Given the description of an element on the screen output the (x, y) to click on. 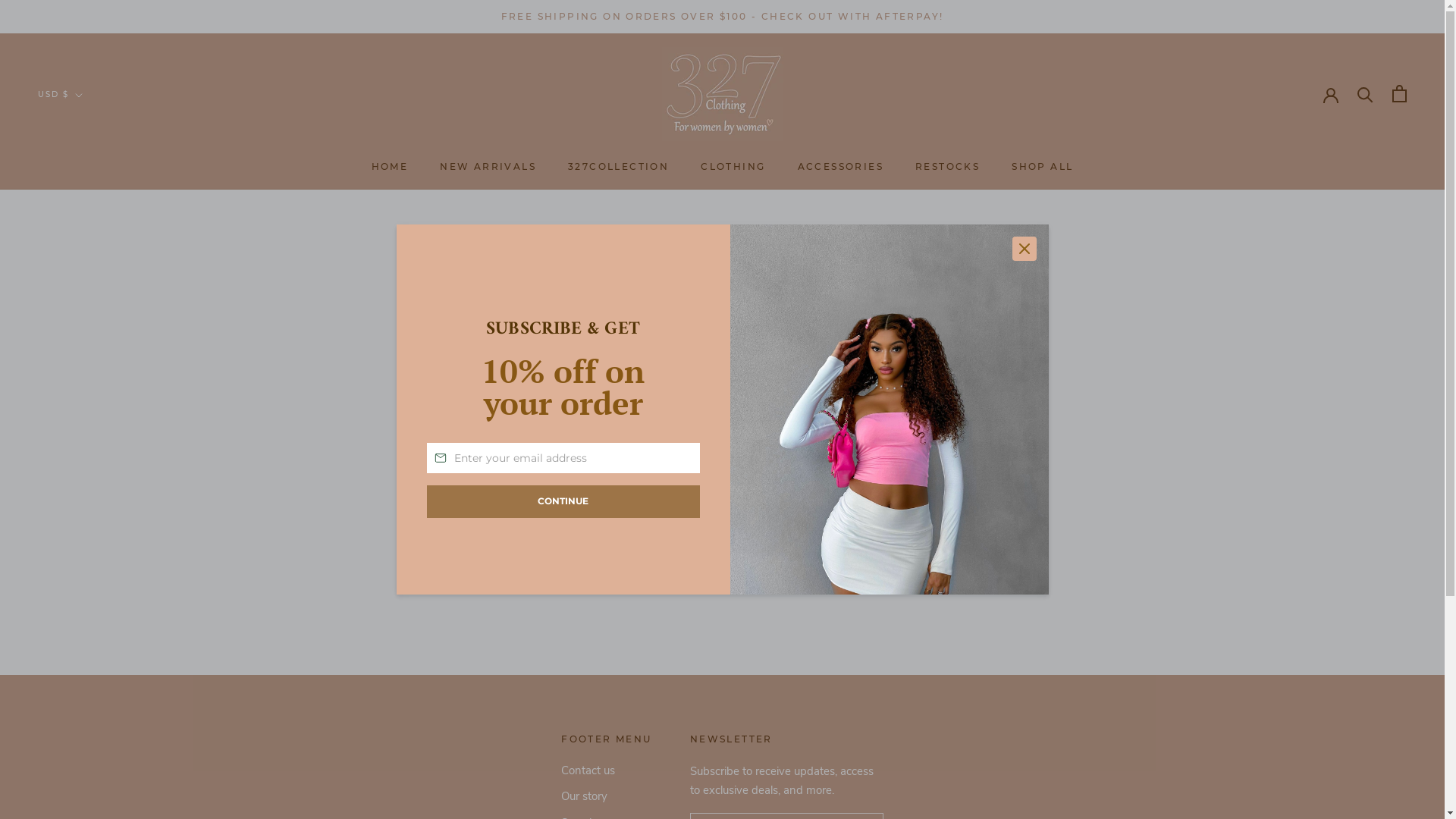
BWP Element type: text (86, 428)
ACCESSORIES Element type: text (840, 166)
BAM Element type: text (86, 267)
DOP Element type: text (86, 629)
FJD Element type: text (86, 729)
BDT Element type: text (86, 308)
ANG Element type: text (86, 187)
ETB Element type: text (86, 689)
BZD Element type: text (86, 448)
GBP Element type: text (86, 769)
CZK Element type: text (86, 568)
BOB Element type: text (86, 388)
NEW ARRIVALS
NEW ARRIVALS Element type: text (487, 166)
Our story Element type: text (606, 796)
CVE Element type: text (86, 549)
BACK TO HOMEPAGE Element type: text (722, 467)
DZD Element type: text (86, 649)
RESTOCKS Element type: text (947, 166)
EGP Element type: text (86, 669)
BBD Element type: text (86, 287)
CNY Element type: text (86, 508)
HOME
HOME Element type: text (389, 166)
Contact us Element type: text (606, 770)
ALL Element type: text (86, 147)
327COLLECTION
327COLLECTION Element type: text (617, 166)
DKK Element type: text (86, 609)
CAD Element type: text (86, 468)
AUD Element type: text (86, 207)
BSD Element type: text (86, 408)
BIF Element type: text (86, 348)
CONTINUE Element type: text (562, 501)
AMD Element type: text (86, 166)
AWG Element type: text (86, 227)
CRC Element type: text (86, 528)
CLOTHING Element type: text (732, 166)
SHOP ALL
SHOP ALL Element type: text (1042, 166)
DJF Element type: text (86, 589)
GMD Element type: text (86, 790)
USD $ Element type: text (59, 95)
CHF Element type: text (86, 488)
EUR Element type: text (86, 709)
AZN Element type: text (86, 247)
FKP Element type: text (86, 750)
BGN Element type: text (86, 327)
AED Element type: text (86, 126)
BND Element type: text (86, 367)
